Given the description of an element on the screen output the (x, y) to click on. 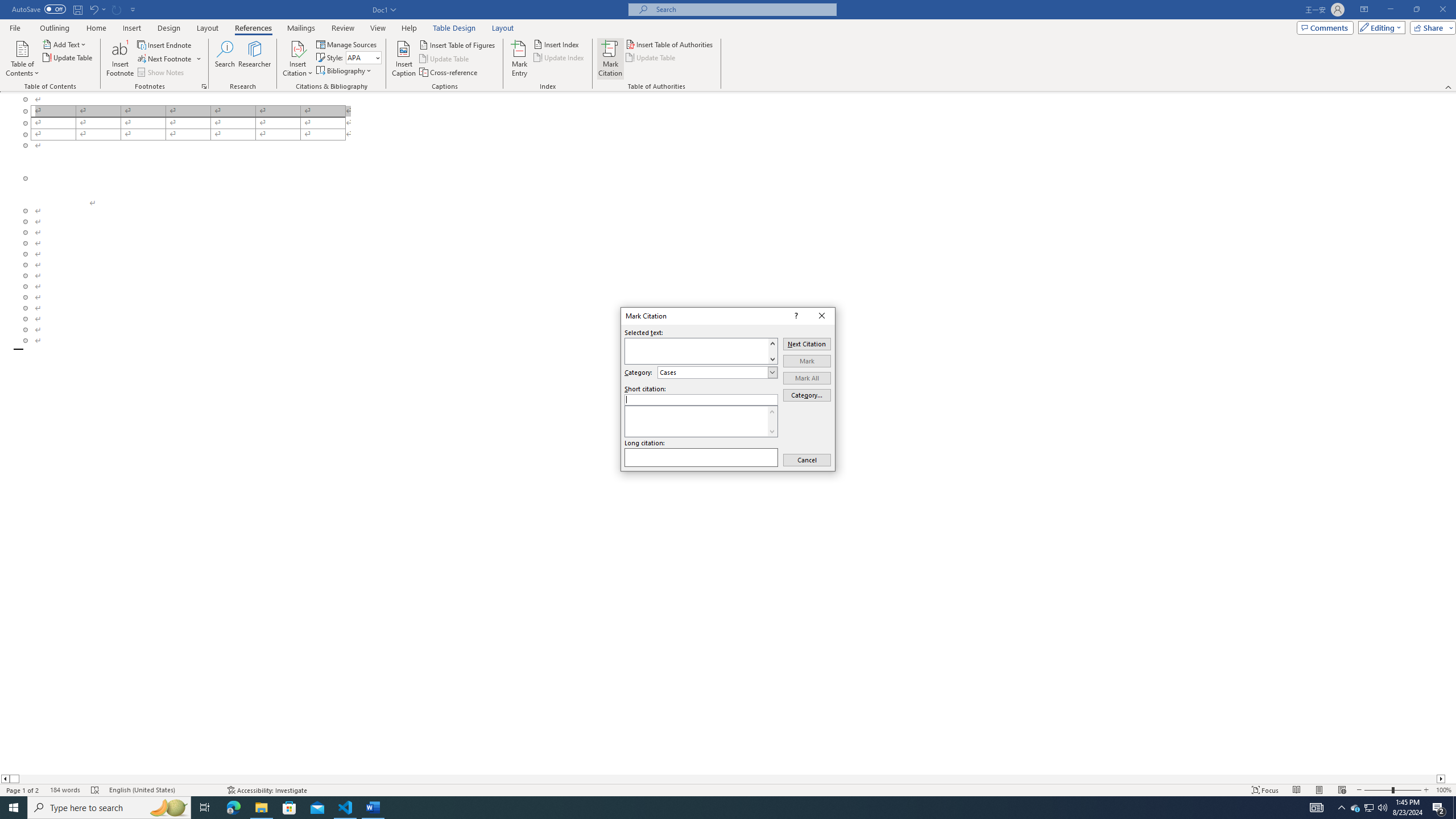
Word - 1 running window (373, 807)
Researcher (254, 58)
Mark Citation... (610, 58)
RichEdit Control (701, 399)
Running applications (717, 807)
Undo Outline Move Up (92, 9)
